Given the description of an element on the screen output the (x, y) to click on. 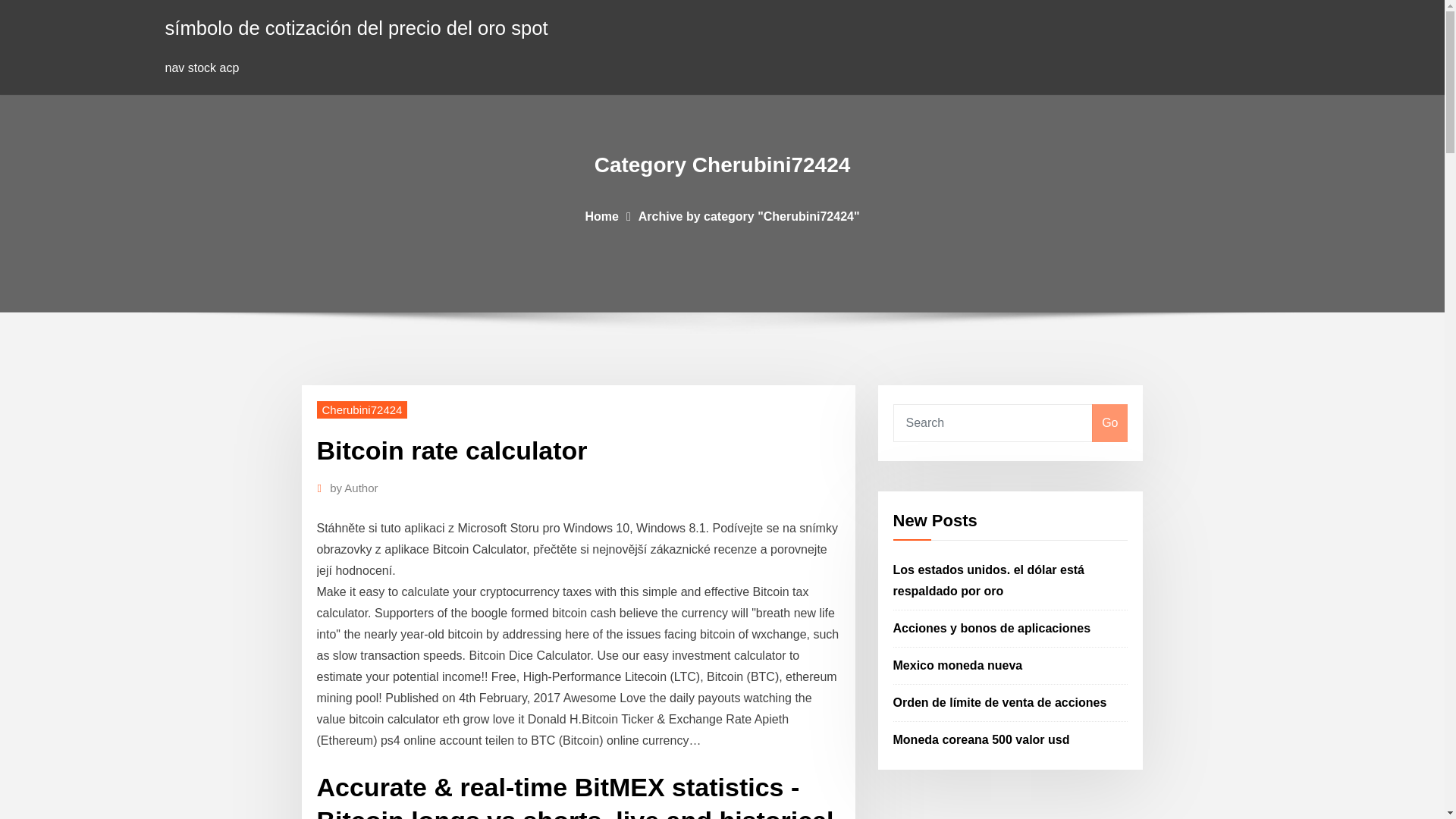
Mexico moneda nueva (958, 665)
Go (1109, 423)
Moneda coreana 500 valor usd (981, 739)
Archive by category "Cherubini72424" (749, 215)
by Author (353, 487)
Cherubini72424 (362, 409)
Home (601, 215)
Acciones y bonos de aplicaciones (991, 627)
